Given the description of an element on the screen output the (x, y) to click on. 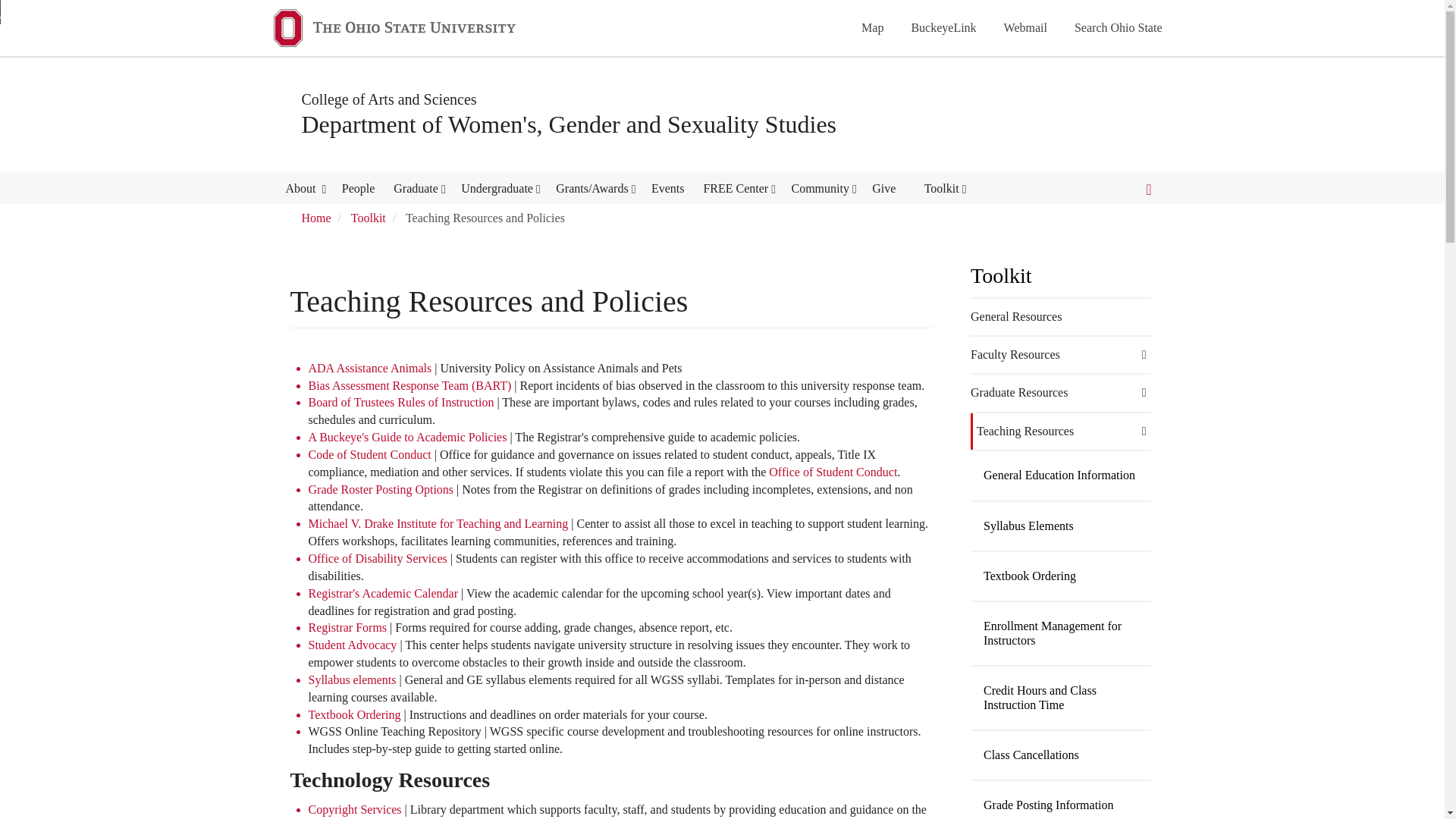
About (301, 191)
Graduate Program (415, 191)
College of Arts and Sciences (389, 98)
Search Ohio State (1117, 27)
Undergraduate Program (496, 191)
Webmail (1025, 27)
BuckeyeLink (943, 27)
Department of Women's, Gender and Sexuality Studies (569, 124)
People (358, 191)
Graduate (415, 191)
Map (872, 27)
About (301, 191)
